Given the description of an element on the screen output the (x, y) to click on. 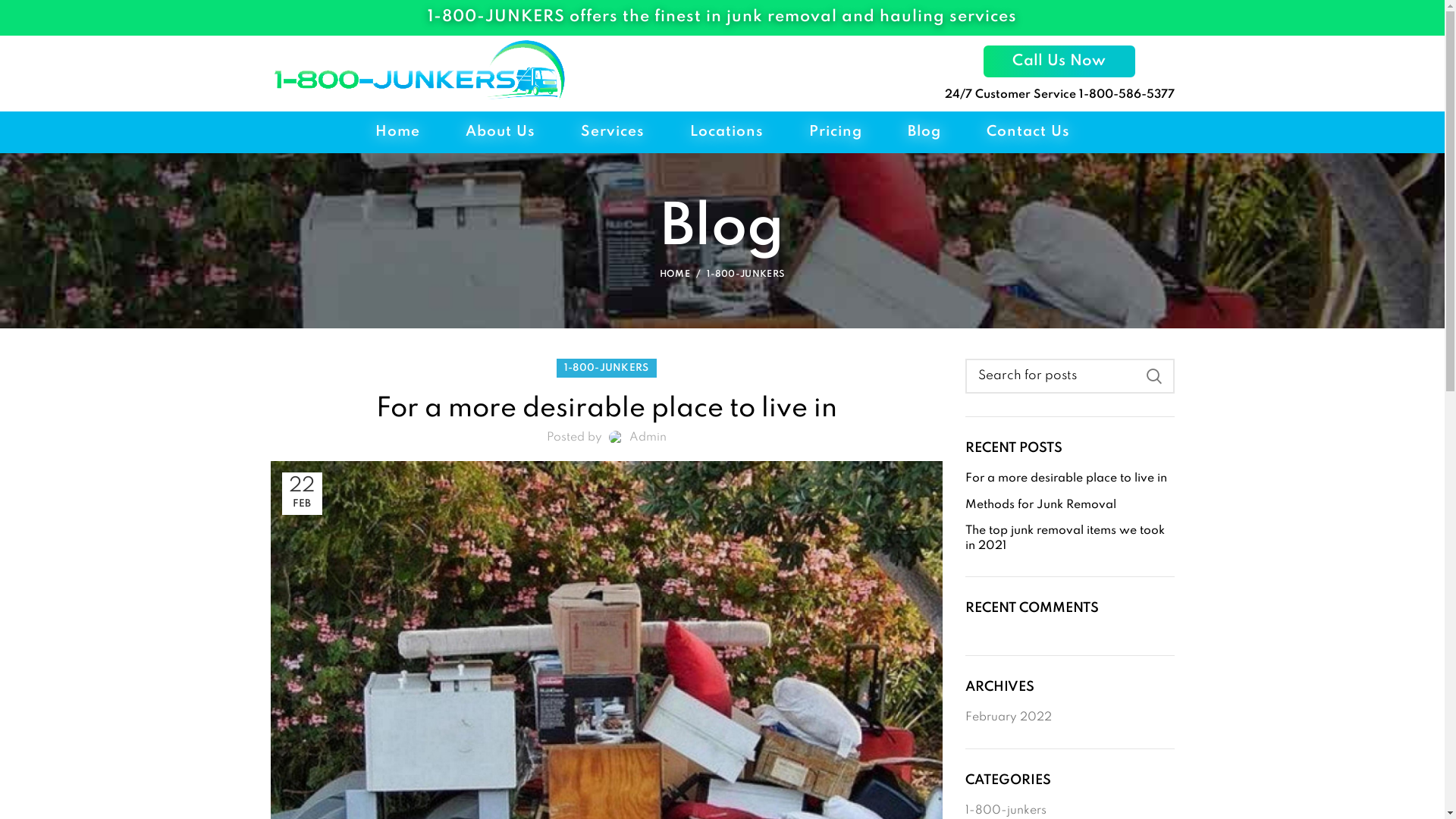
Search for posts Element type: hover (1069, 375)
Home Element type: text (396, 131)
Contact Us Element type: text (1027, 131)
Call Us Now Element type: text (1058, 60)
For a more desirable place to live in Element type: text (1069, 478)
22
FEB Element type: text (302, 493)
HOME Element type: text (683, 274)
SEARCH Element type: text (1153, 375)
February 2022 Element type: text (1009, 717)
1-800-JUNKERS Element type: text (745, 274)
The top junk removal items we took in 2021 Element type: text (1069, 538)
1-800-JUNKERS Element type: text (606, 367)
Locations Element type: text (726, 131)
Pricing Element type: text (834, 131)
Blog Element type: text (923, 131)
Admin Element type: text (647, 437)
Services Element type: text (612, 131)
Methods for Junk Removal Element type: text (1069, 505)
About Us Element type: text (500, 131)
